Given the description of an element on the screen output the (x, y) to click on. 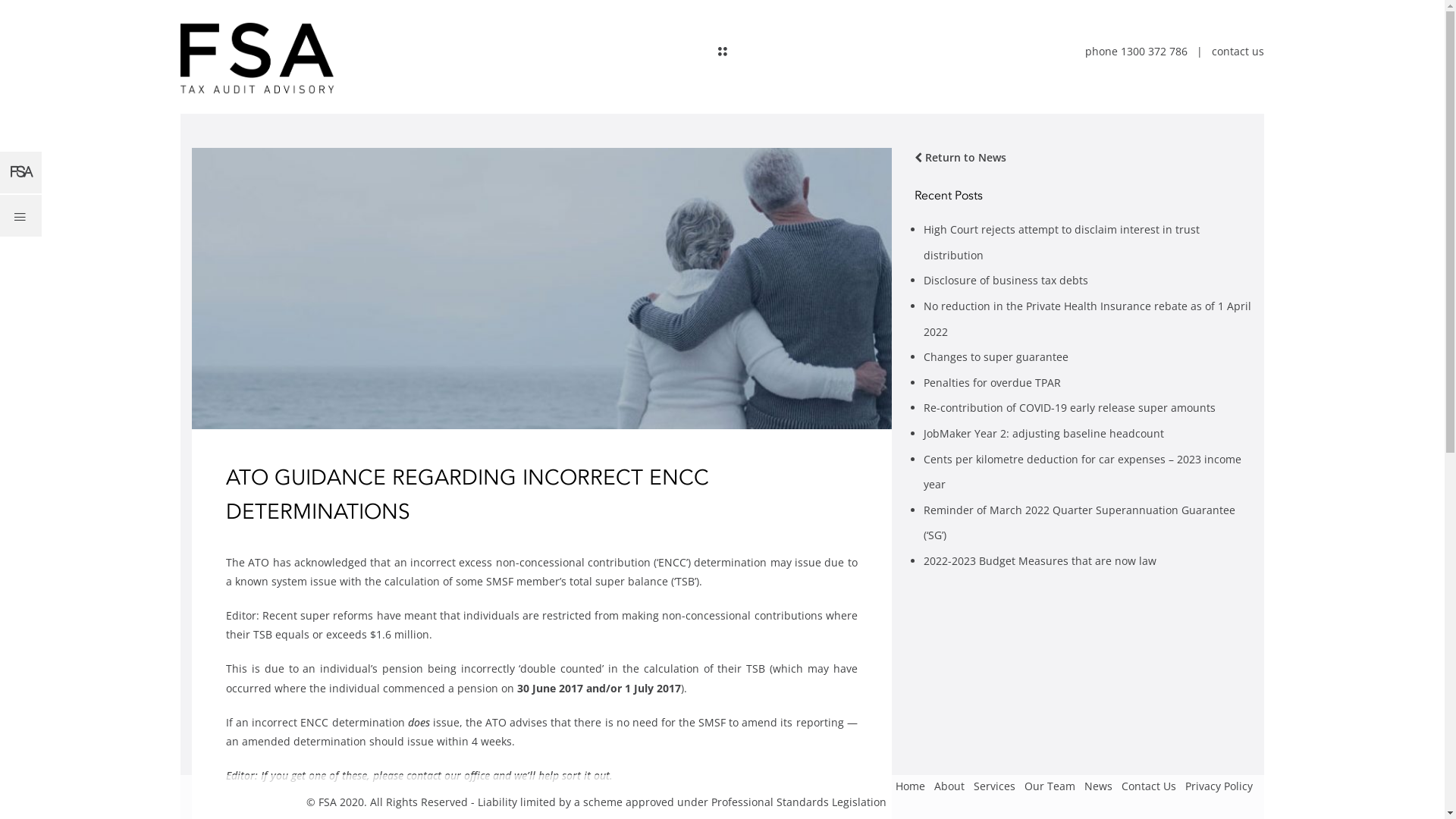
Re-contribution of COVID-19 early release super amounts Element type: text (1069, 407)
Changes to super guarantee Element type: text (995, 356)
Home Element type: text (910, 786)
Services Element type: text (994, 786)
Penalties for overdue TPAR Element type: text (991, 382)
2022-2023 Budget Measures that are now law Element type: text (1039, 560)
Return to News Element type: text (960, 157)
About Element type: text (949, 786)
JobMaker Year 2: adjusting baseline headcount Element type: text (1043, 433)
News Element type: text (1098, 786)
Contact Us Element type: text (1148, 786)
Our Team Element type: text (1049, 786)
1300 372 786 Element type: text (1153, 50)
Privacy Policy Element type: text (1218, 786)
Disclosure of business tax debts Element type: text (1005, 280)
contact us Element type: text (1237, 50)
